Given the description of an element on the screen output the (x, y) to click on. 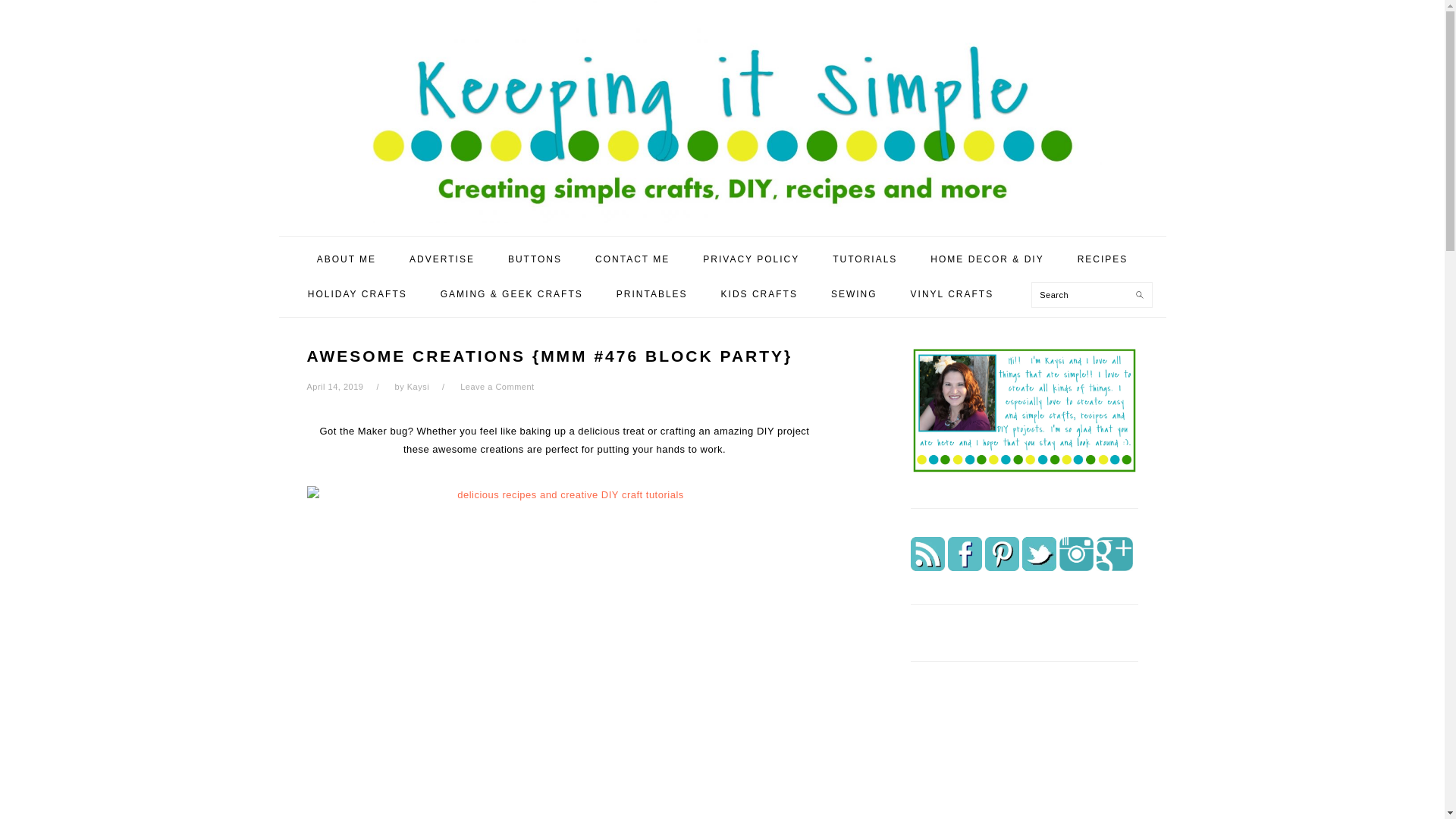
Kaysi (418, 386)
RECIPES (1102, 258)
PRIVACY POLICY (751, 258)
PRINTABLES (651, 294)
Leave a Comment (497, 386)
HOLIDAY CRAFTS (357, 294)
VINYL CRAFTS (952, 294)
